Given the description of an element on the screen output the (x, y) to click on. 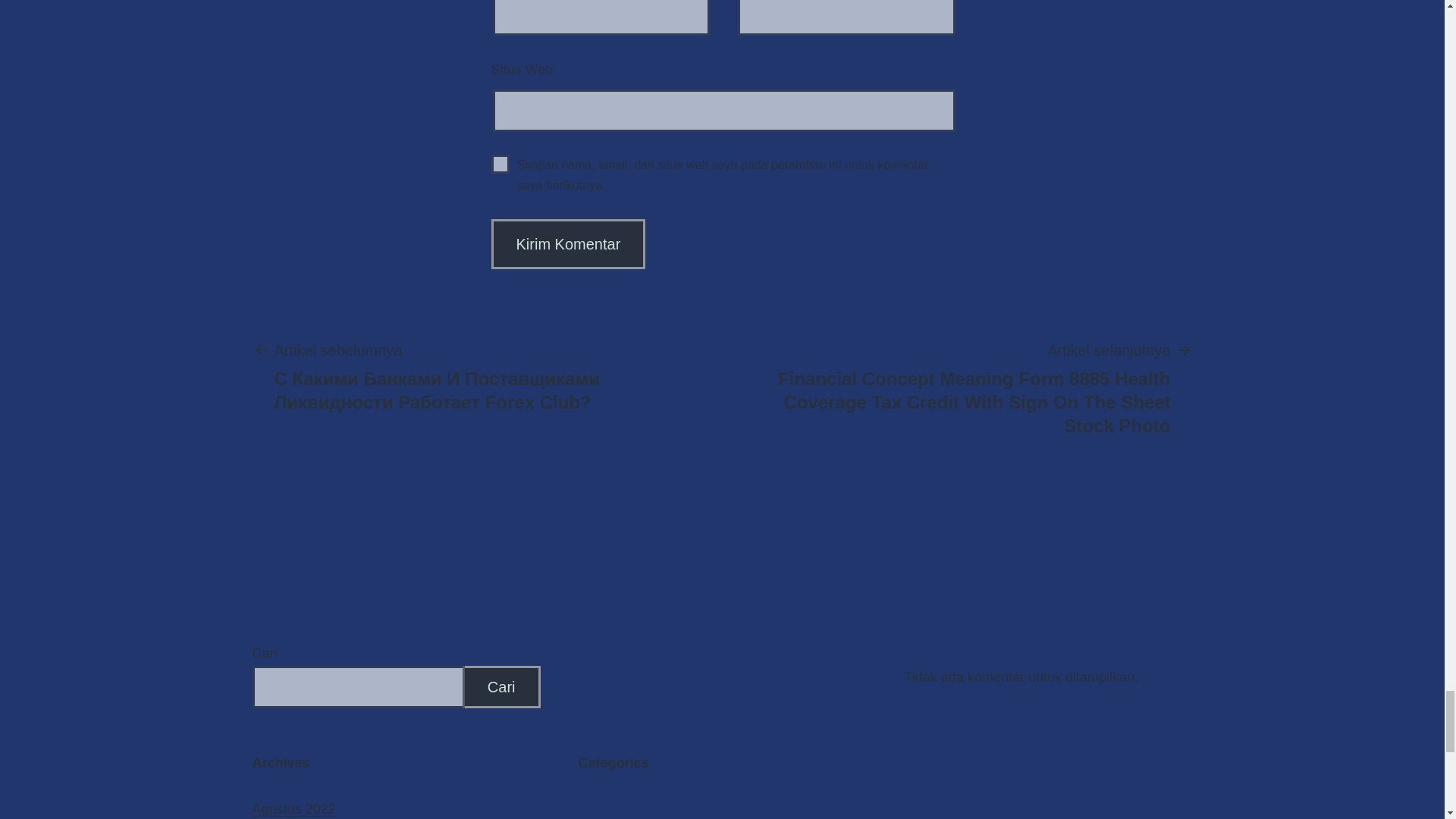
Agustus 2022 (292, 808)
yes (500, 163)
Kirim Komentar (569, 244)
Cari (501, 687)
Kirim Komentar (569, 244)
